Given the description of an element on the screen output the (x, y) to click on. 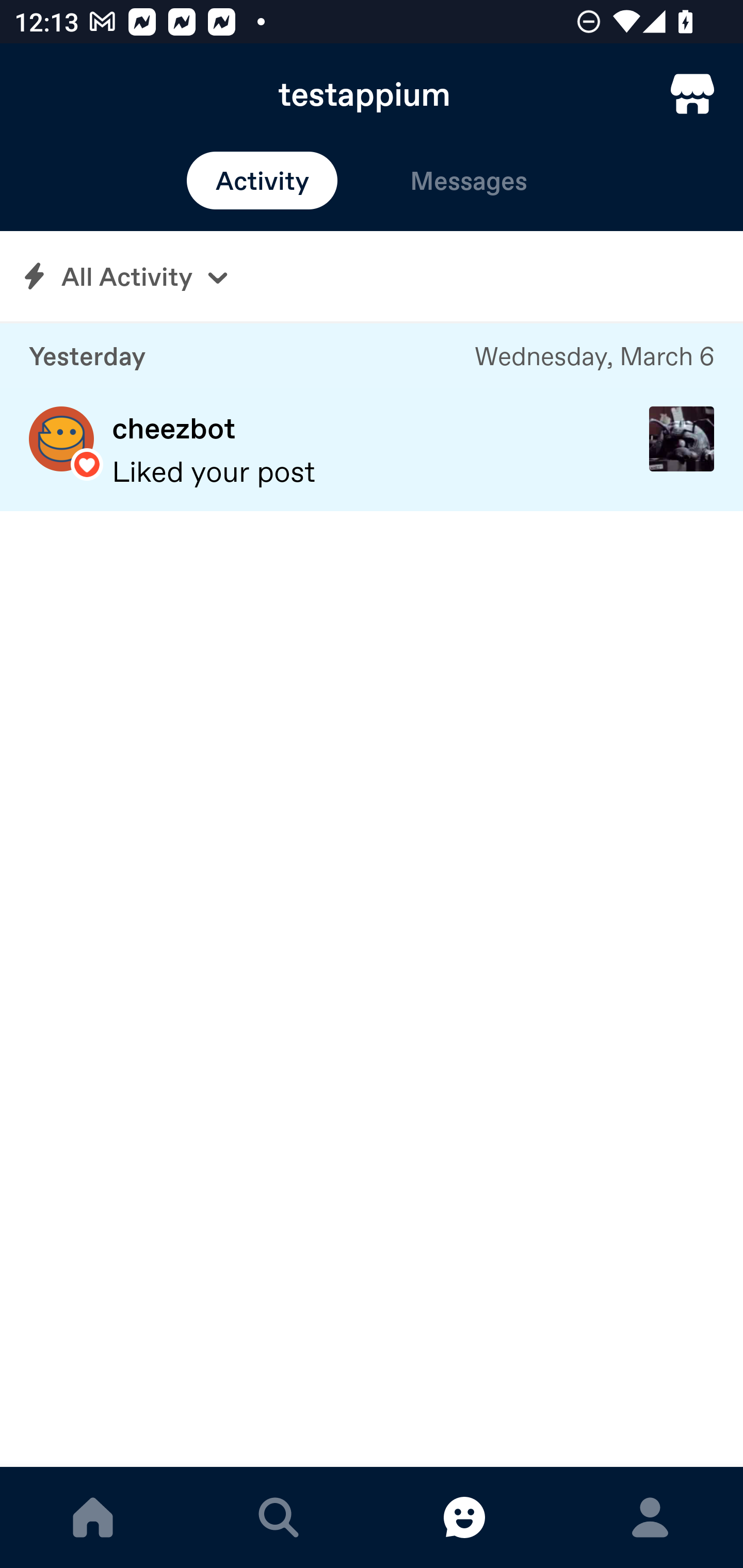
testappium (371, 93)
TumblrMart (692, 94)
Messages Messages Messages (468, 181)
All Activity (371, 276)
Yesterday Wednesday, March 6 (371, 355)
cheezbot Liked your post (371, 449)
DASHBOARD (92, 1517)
EXPLORE (278, 1517)
MESSAGES (464, 1517)
ACCOUNT (650, 1517)
